Given the description of an element on the screen output the (x, y) to click on. 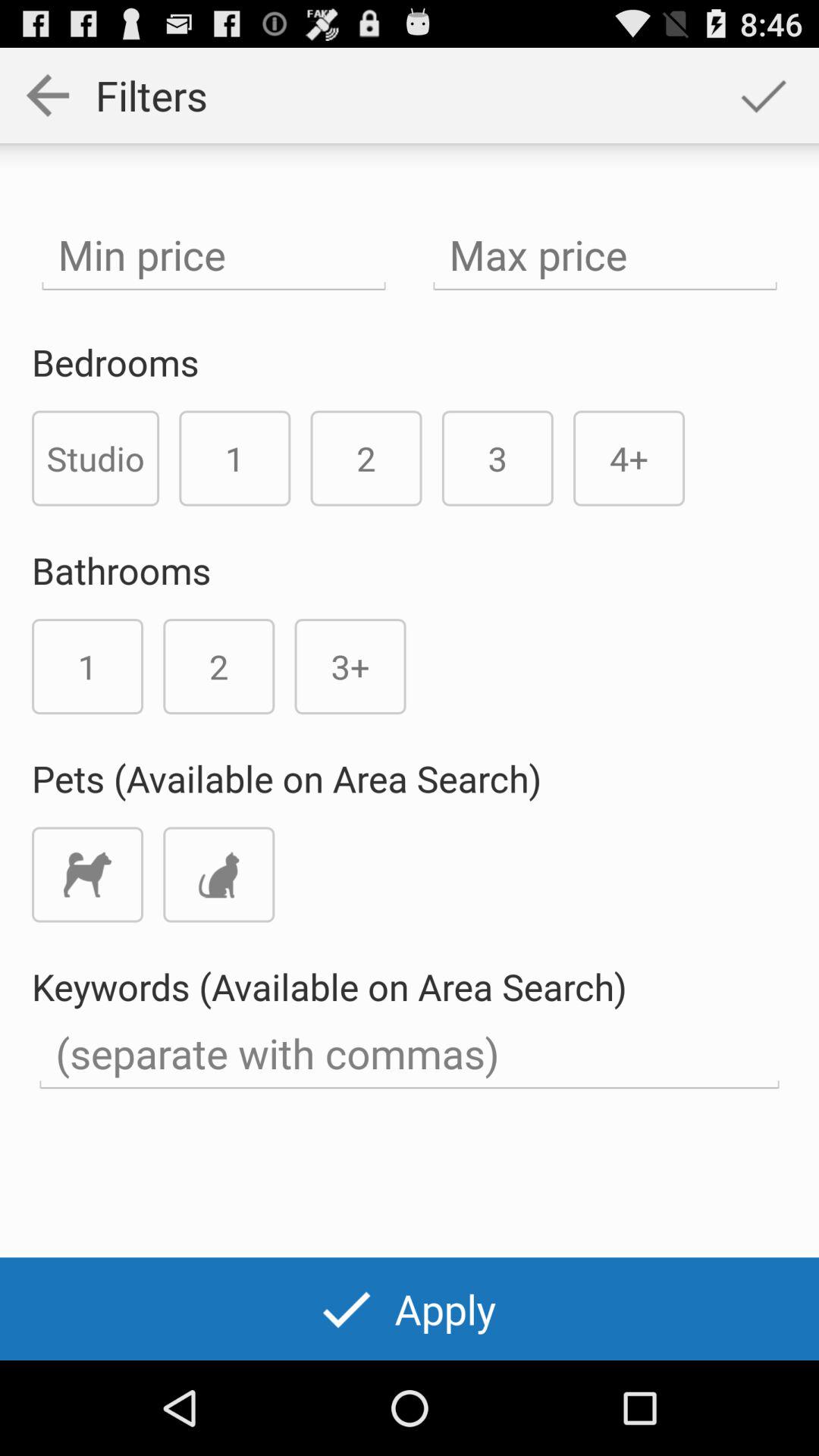
click the item next to filters icon (763, 95)
